Given the description of an element on the screen output the (x, y) to click on. 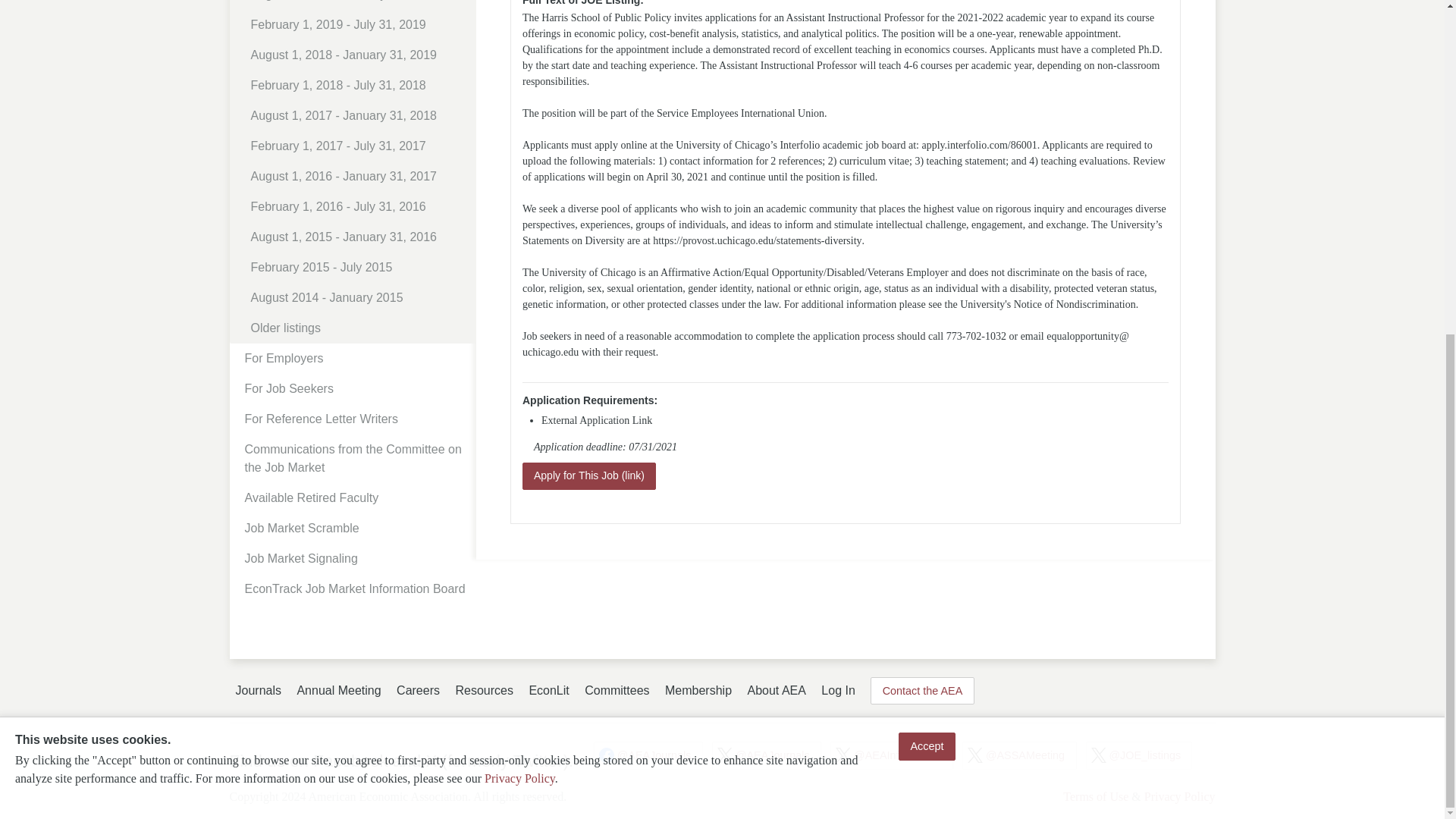
August 1, 2018 - January 31, 2019 (358, 55)
February 1, 2019 - July 31, 2019 (358, 24)
Accept (926, 187)
Privacy Policy (519, 219)
August 1, 2019 - January 31, 2020 (358, 4)
